Given the description of an element on the screen output the (x, y) to click on. 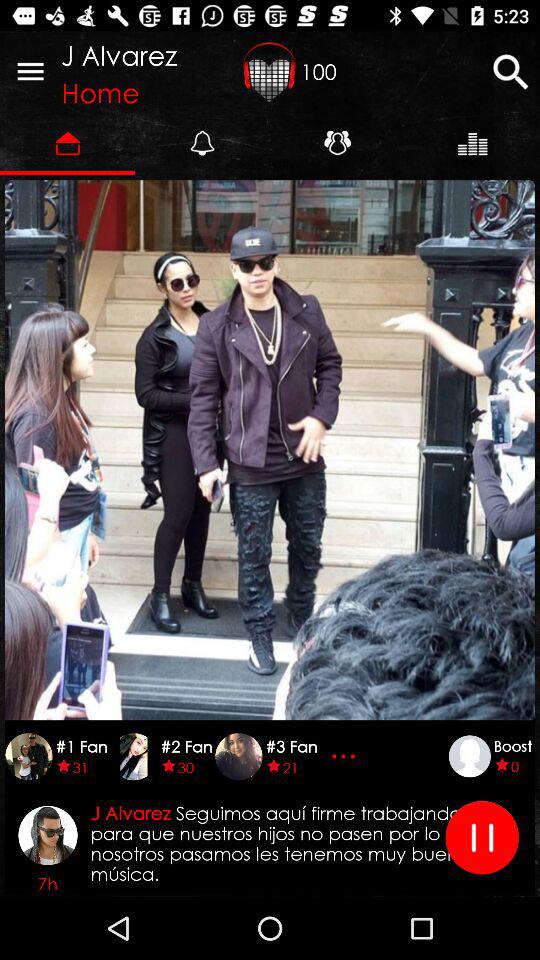
click icon next to the j alvarez (269, 71)
